Given the description of an element on the screen output the (x, y) to click on. 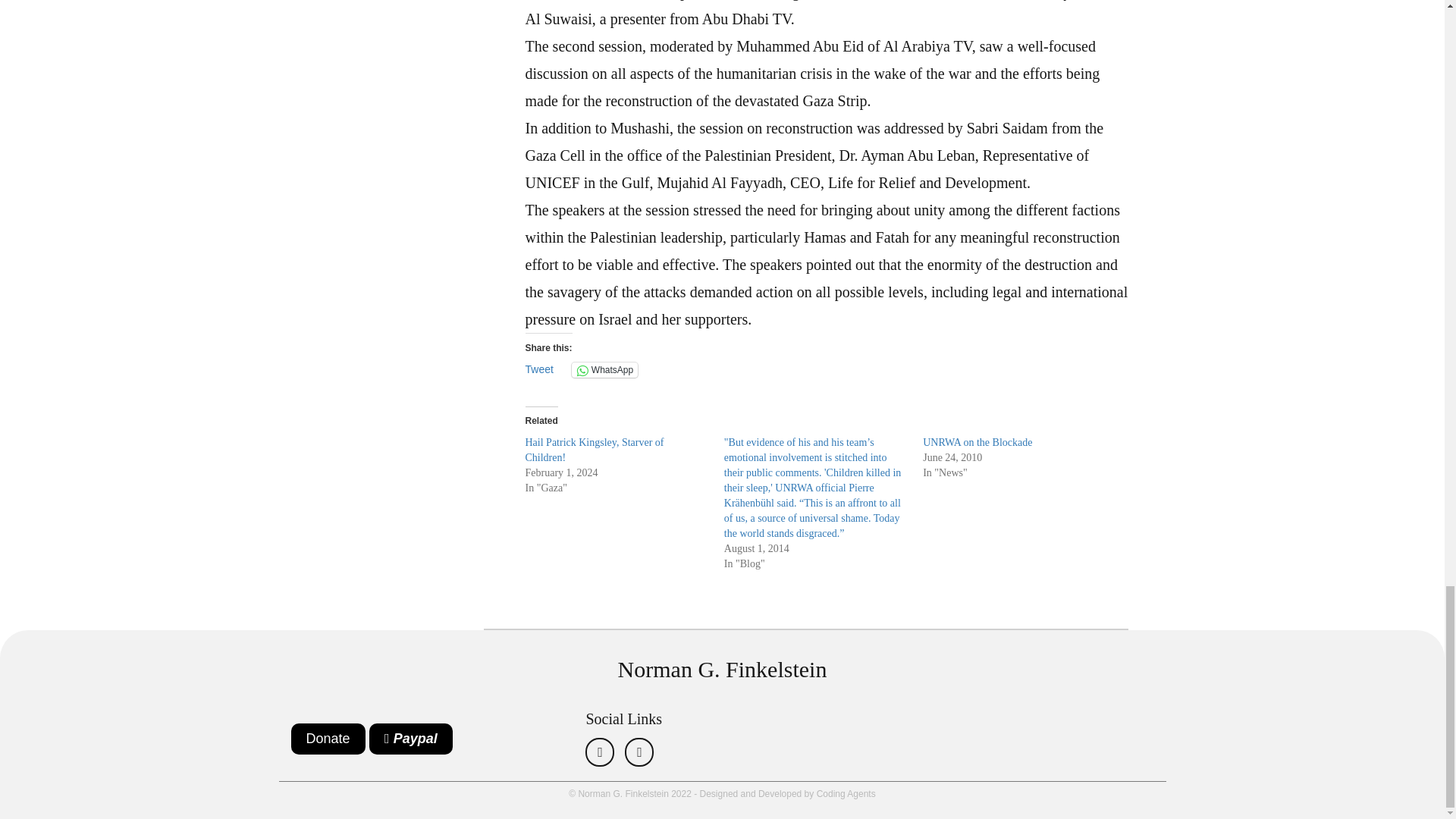
UNRWA on the Blockade (977, 441)
Tweet (538, 368)
Donate (328, 738)
UNRWA on the Blockade (977, 441)
Click to share on WhatsApp (604, 369)
Hail Patrick Kingsley, Starver of Children! (593, 449)
Paypal (410, 738)
Norman G. Finkelstein (722, 668)
WhatsApp (604, 369)
Hail Patrick Kingsley, Starver of Children! (593, 449)
